Given the description of an element on the screen output the (x, y) to click on. 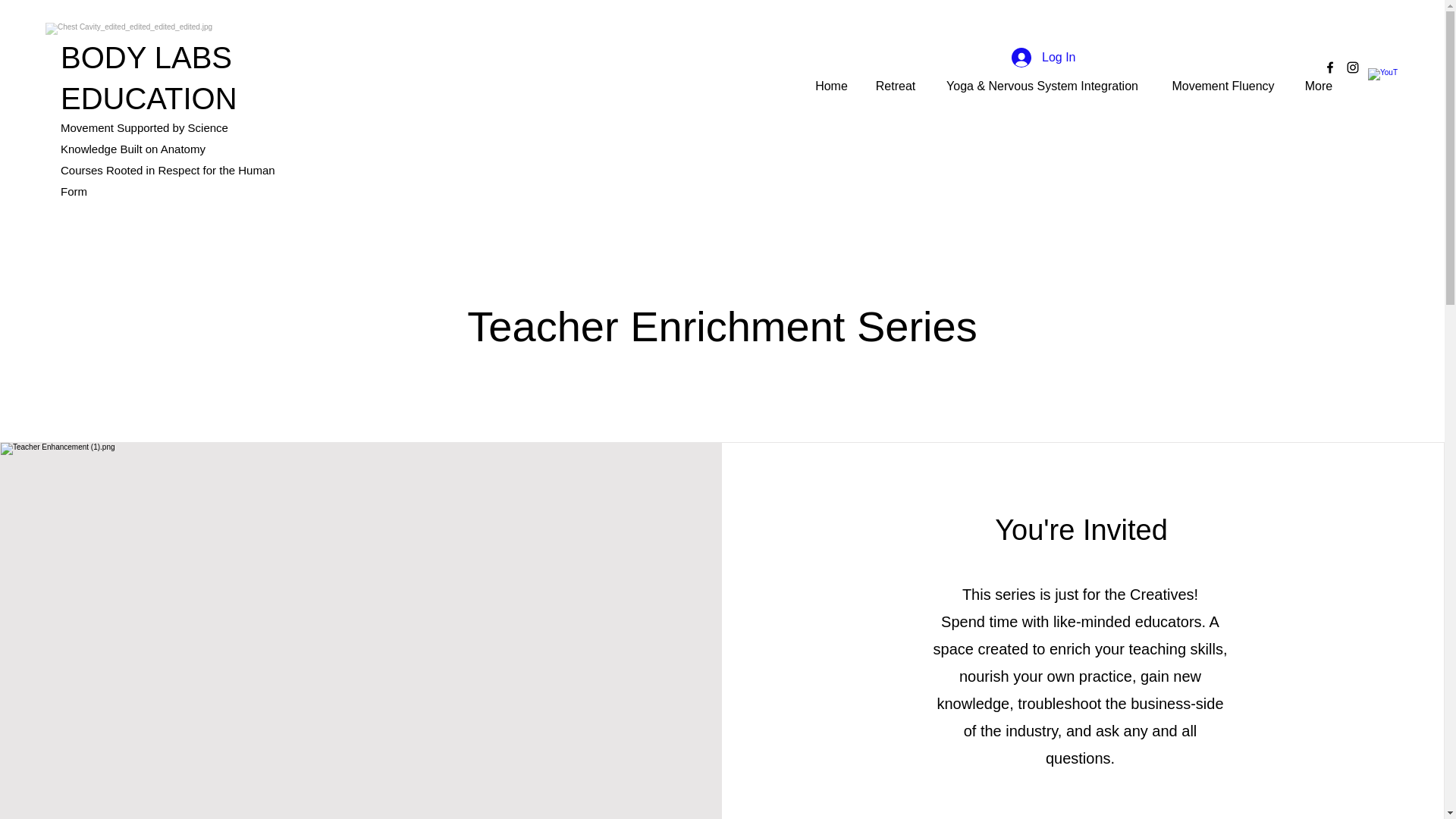
Log In (1043, 57)
BODY LABS EDUCATION (149, 77)
Movement Fluency (1223, 86)
Home (830, 86)
Retreat (894, 86)
